Given the description of an element on the screen output the (x, y) to click on. 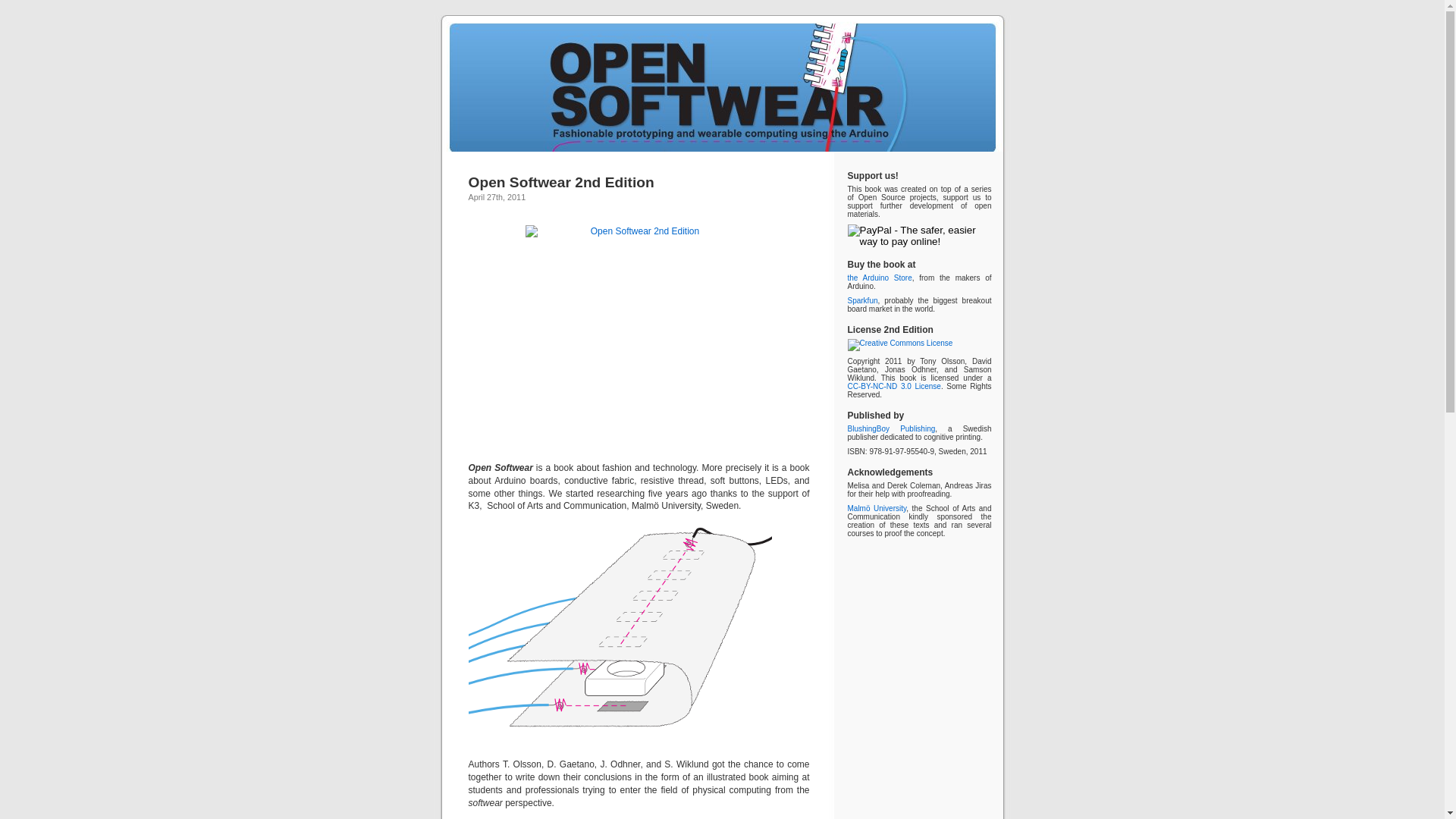
os_synth Element type: hover (619, 635)
Open Softwear 2nd Edition Element type: text (561, 182)
Sparkfun Element type: text (862, 300)
the Arduino Store Element type: text (879, 277)
OSW_printed_500 Element type: hover (638, 338)
CC-BY-NC-ND 3.0 License Element type: text (894, 386)
BlushingBoy Publishing Element type: text (891, 428)
